Given the description of an element on the screen output the (x, y) to click on. 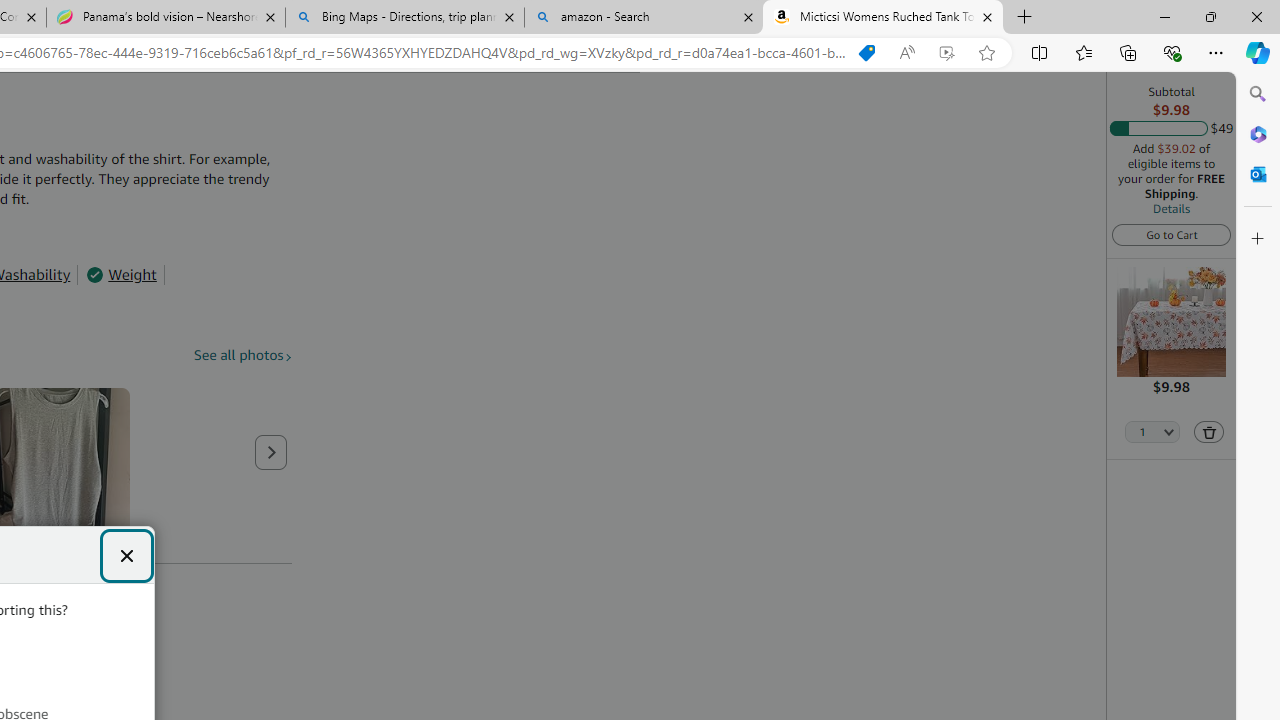
Outlook (1258, 174)
Enhance video (946, 53)
amazon - Search (643, 17)
